Given the description of an element on the screen output the (x, y) to click on. 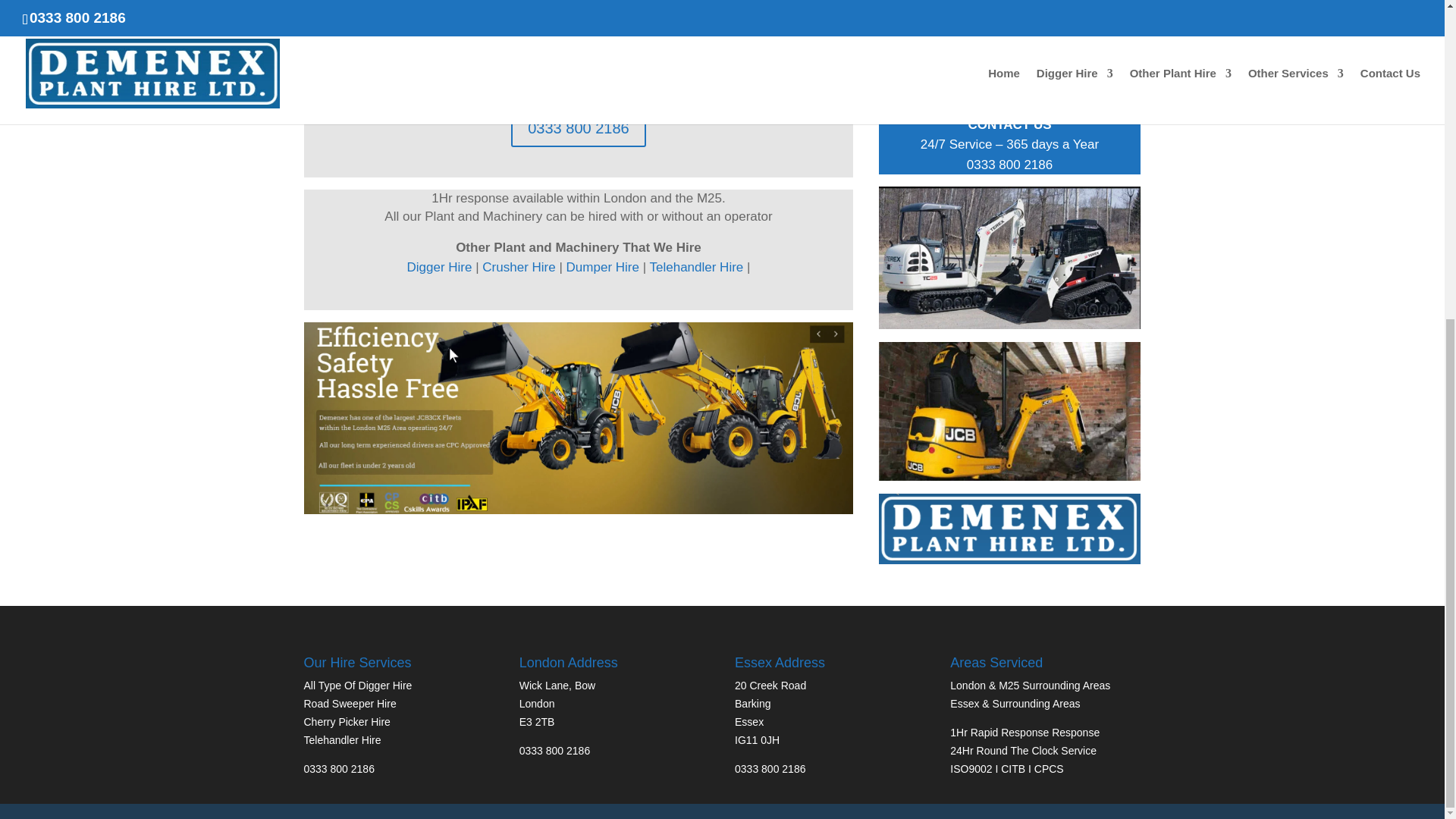
Digger Hire (441, 267)
0333 800 2186 (578, 127)
Telehandler Hire (695, 267)
Hire Mini Digger East London (1010, 411)
Crusher Hire (517, 267)
Hire Mini Digger East London (1010, 9)
Small Digger Hire East London (577, 418)
Micro Digger Hire East London (1010, 528)
Hire Mini Digger East London (1010, 67)
Dumper Hire (602, 267)
Hire Mini Digger East London (1010, 257)
